Given the description of an element on the screen output the (x, y) to click on. 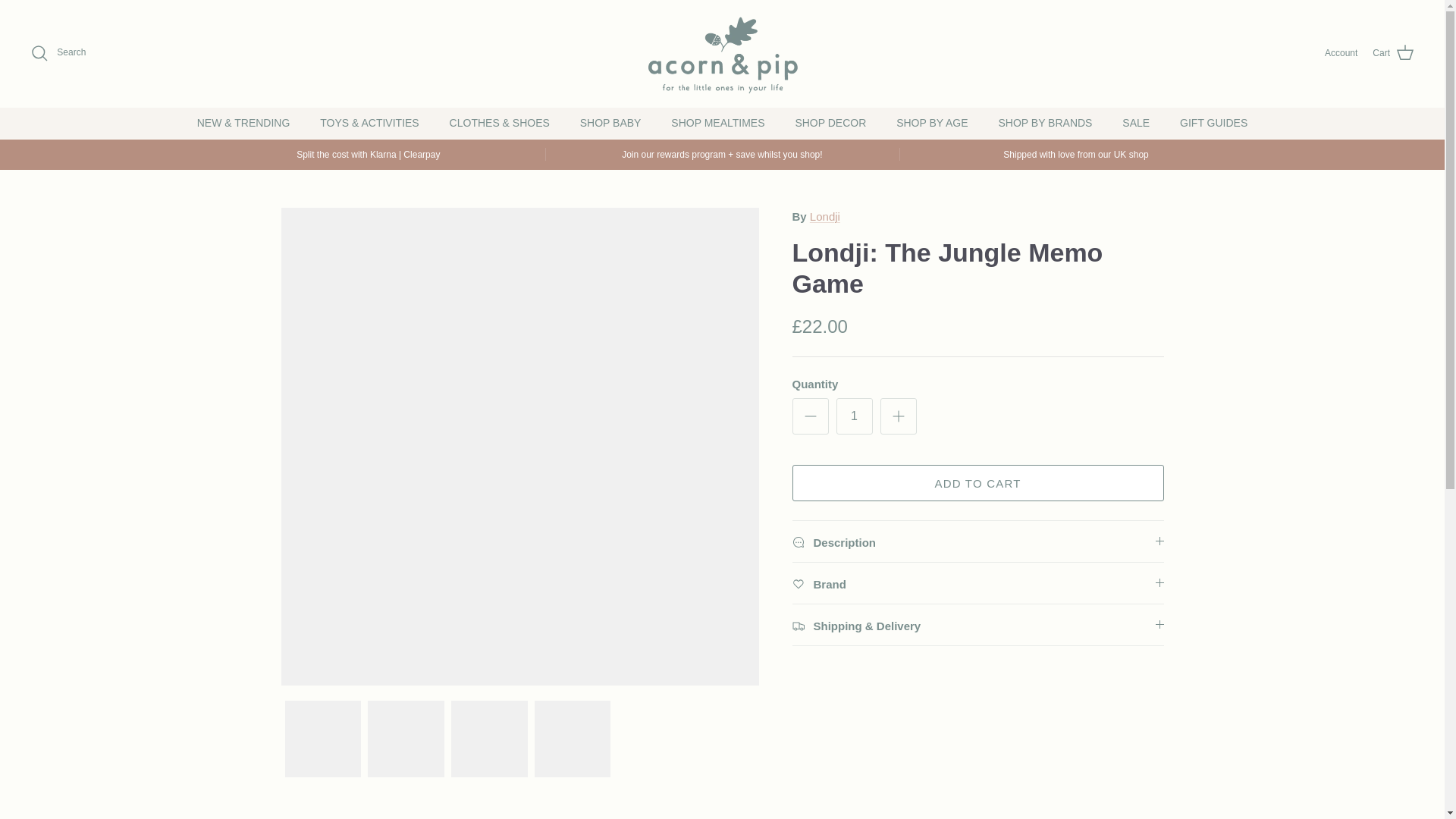
Account (1340, 52)
Minus (809, 416)
1 (853, 416)
Plus (897, 416)
Search (57, 53)
Cart (1393, 53)
